Given the description of an element on the screen output the (x, y) to click on. 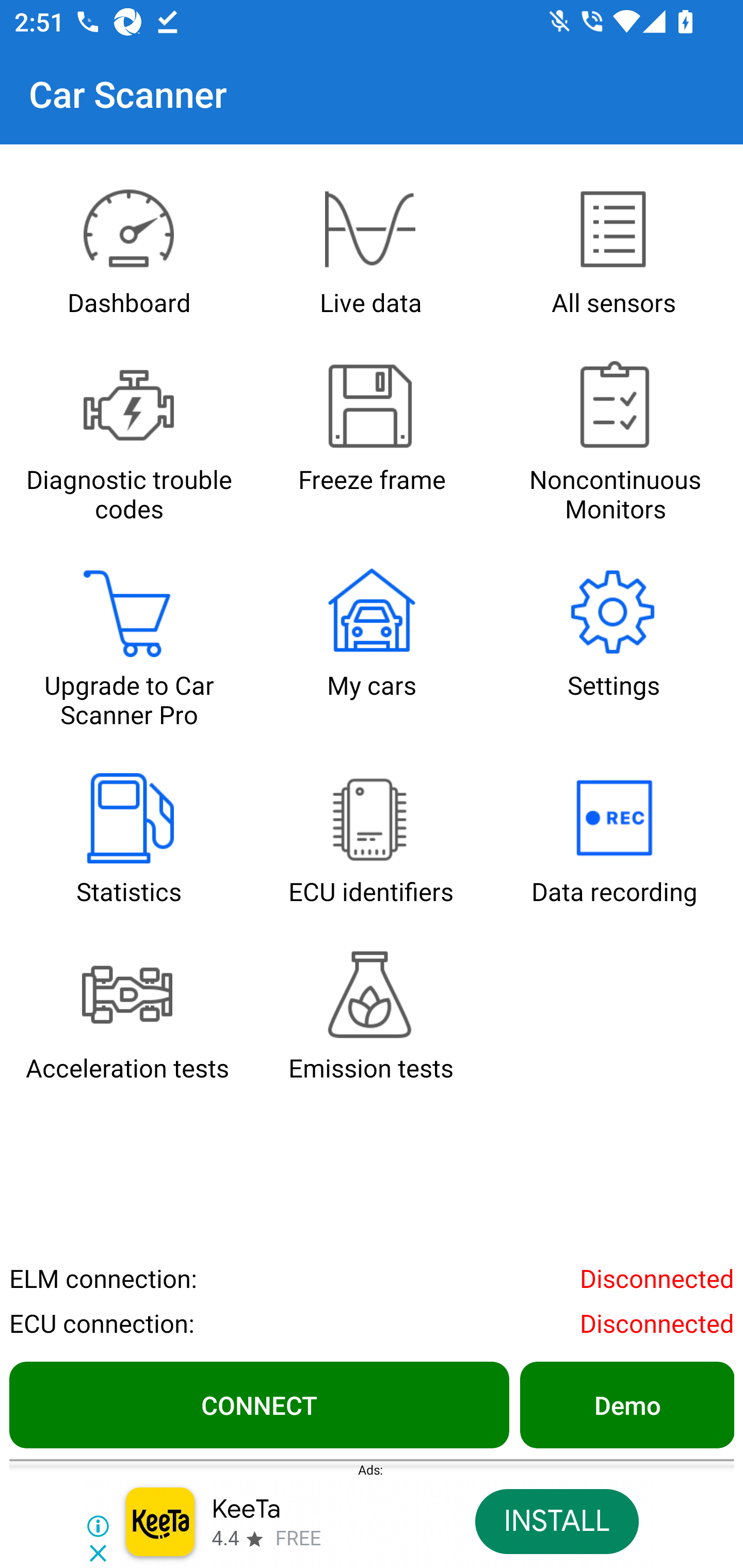
CONNECT (258, 1404)
Demo (627, 1404)
INSTALL (556, 1521)
KeeTa (246, 1509)
4.4 (224, 1539)
FREE (298, 1539)
